Given the description of an element on the screen output the (x, y) to click on. 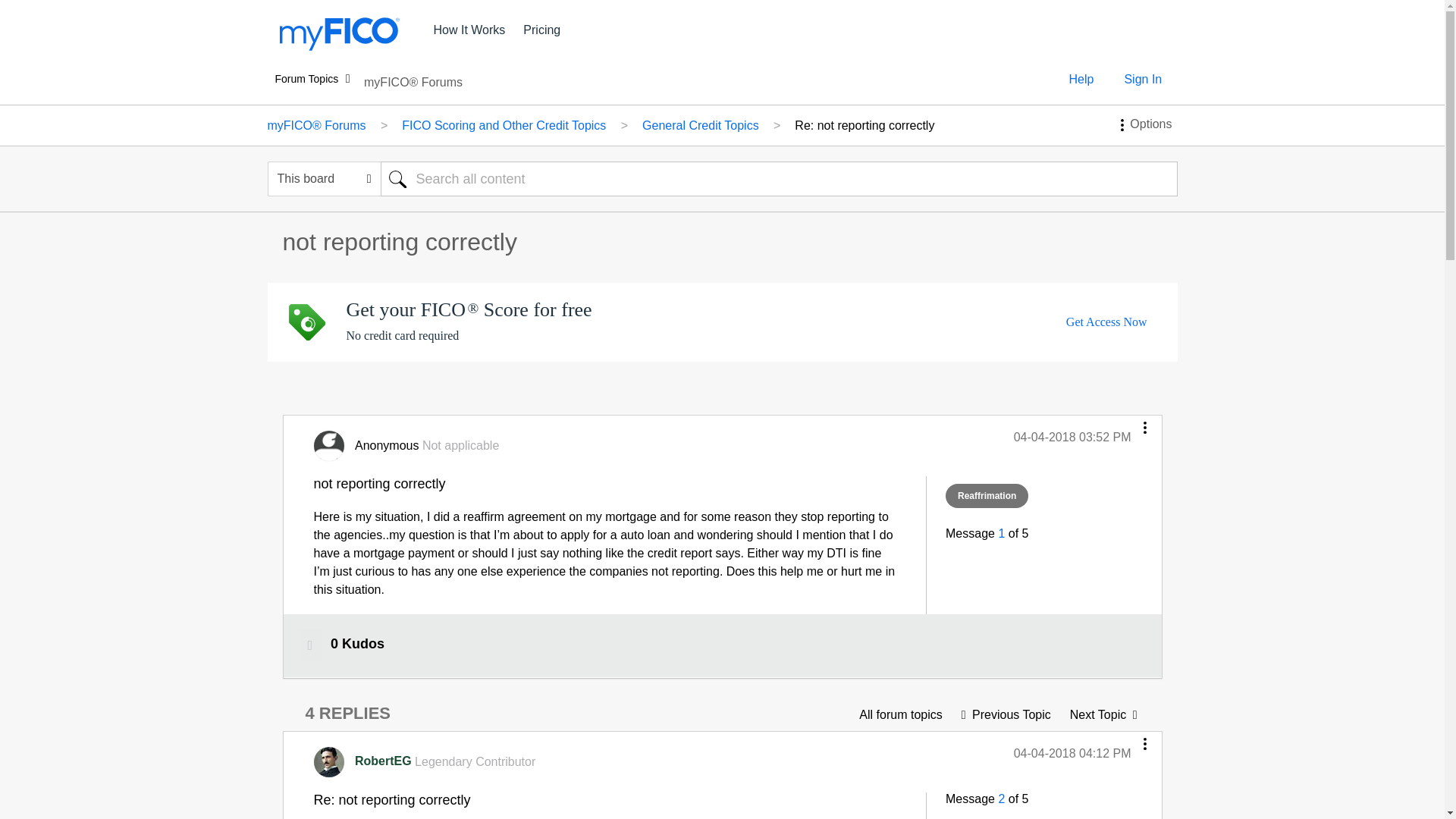
Search (397, 178)
How It Works (470, 29)
Will we be charged for swiping credit? (1006, 714)
Search (397, 178)
Show option menu (1142, 125)
Advice needed to fix EQ (1103, 714)
Search (778, 178)
Search Granularity (323, 178)
Posted on (1072, 437)
General Credit Topics (900, 714)
Pricing (541, 29)
The total number of kudos this post has received. (357, 643)
